Given the description of an element on the screen output the (x, y) to click on. 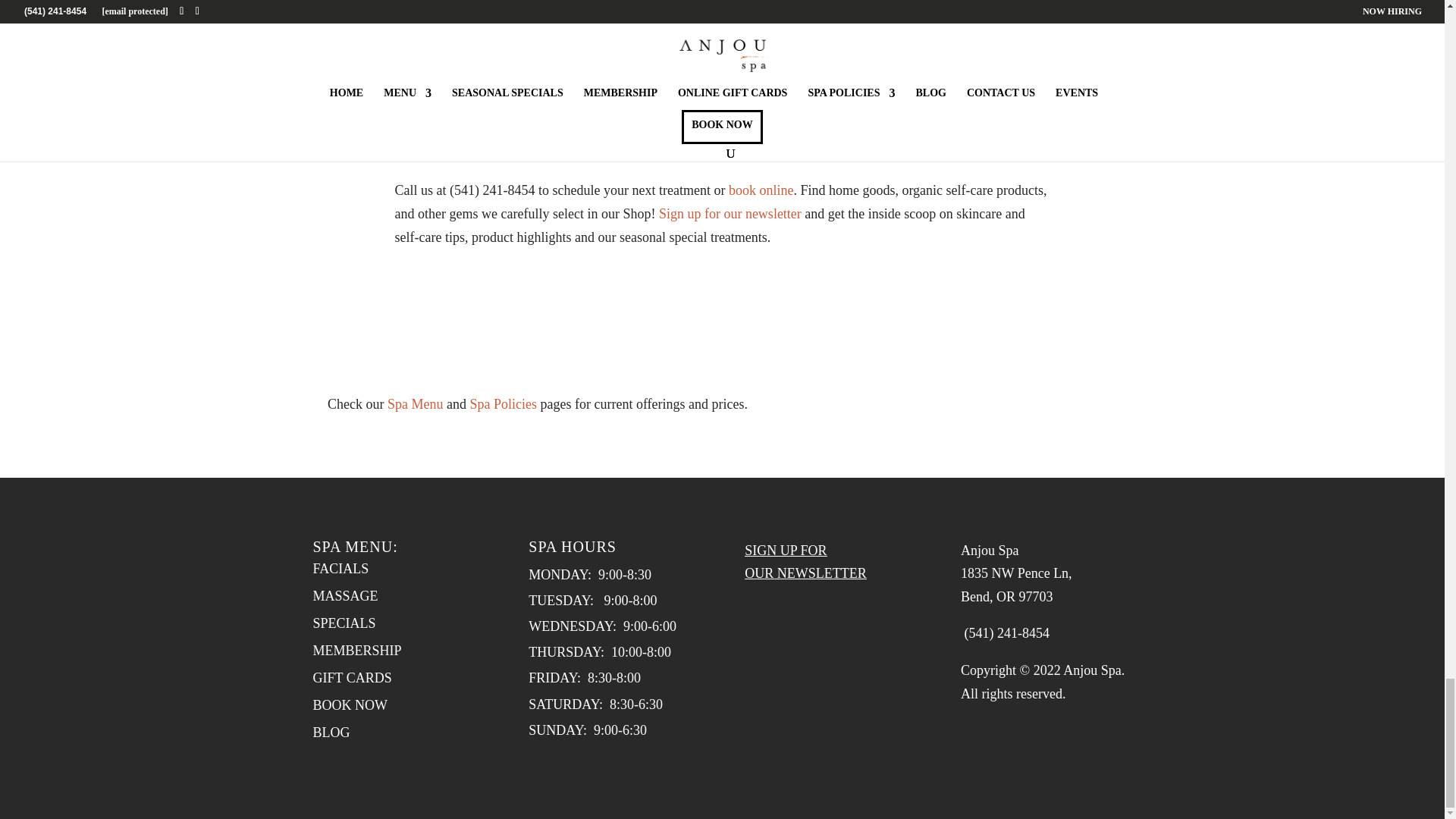
Spa Membership (643, 153)
book online (761, 190)
Sign up for our newsletter (730, 213)
Spa Menu (415, 403)
